Given the description of an element on the screen output the (x, y) to click on. 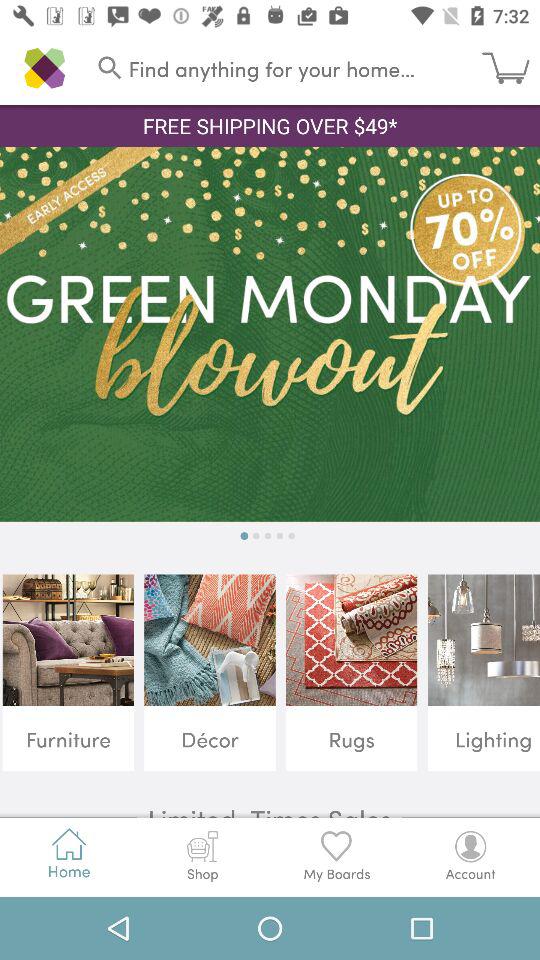
open the advertisement (270, 334)
